Given the description of an element on the screen output the (x, y) to click on. 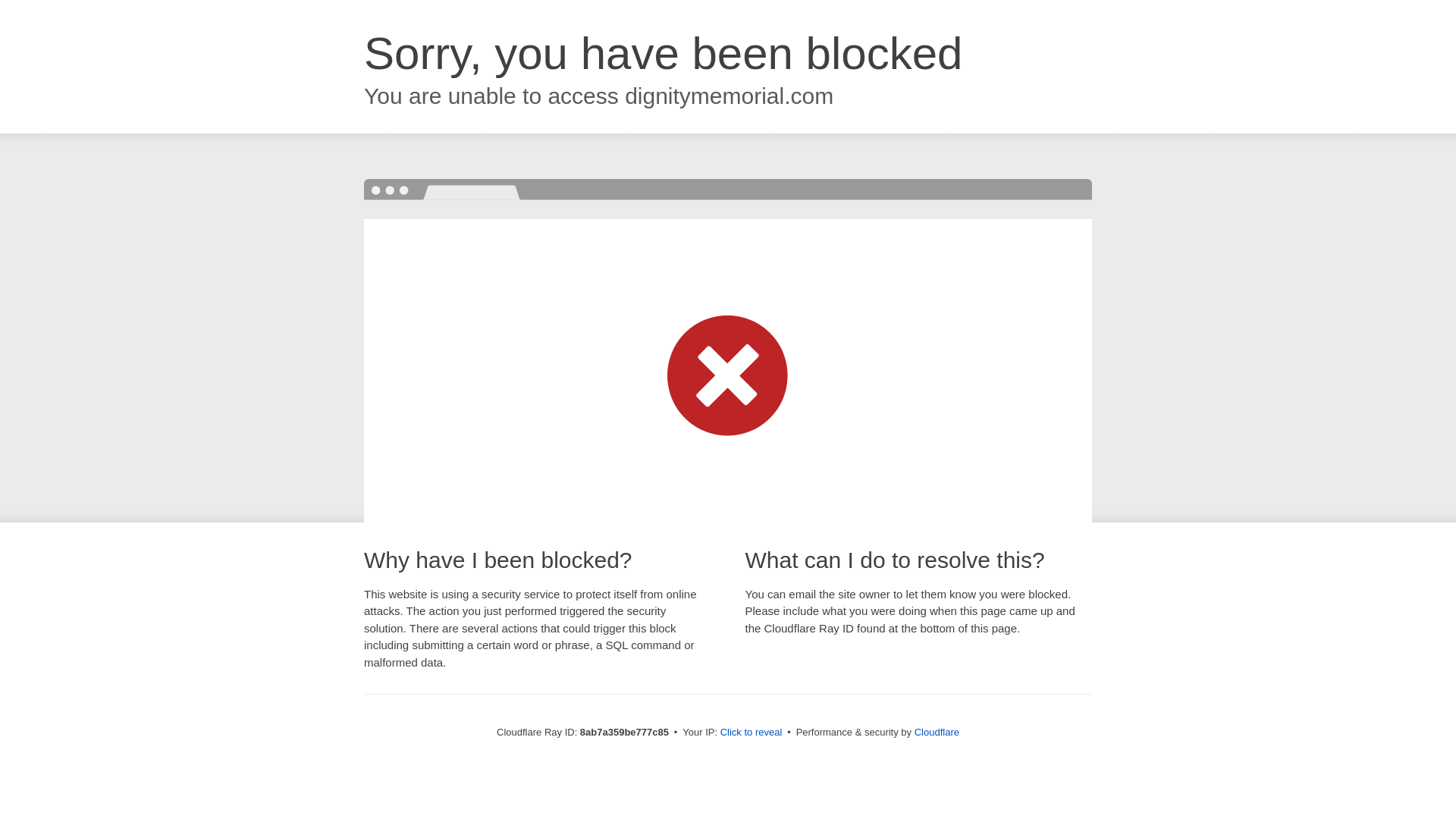
Cloudflare (936, 731)
Click to reveal (751, 732)
